Given the description of an element on the screen output the (x, y) to click on. 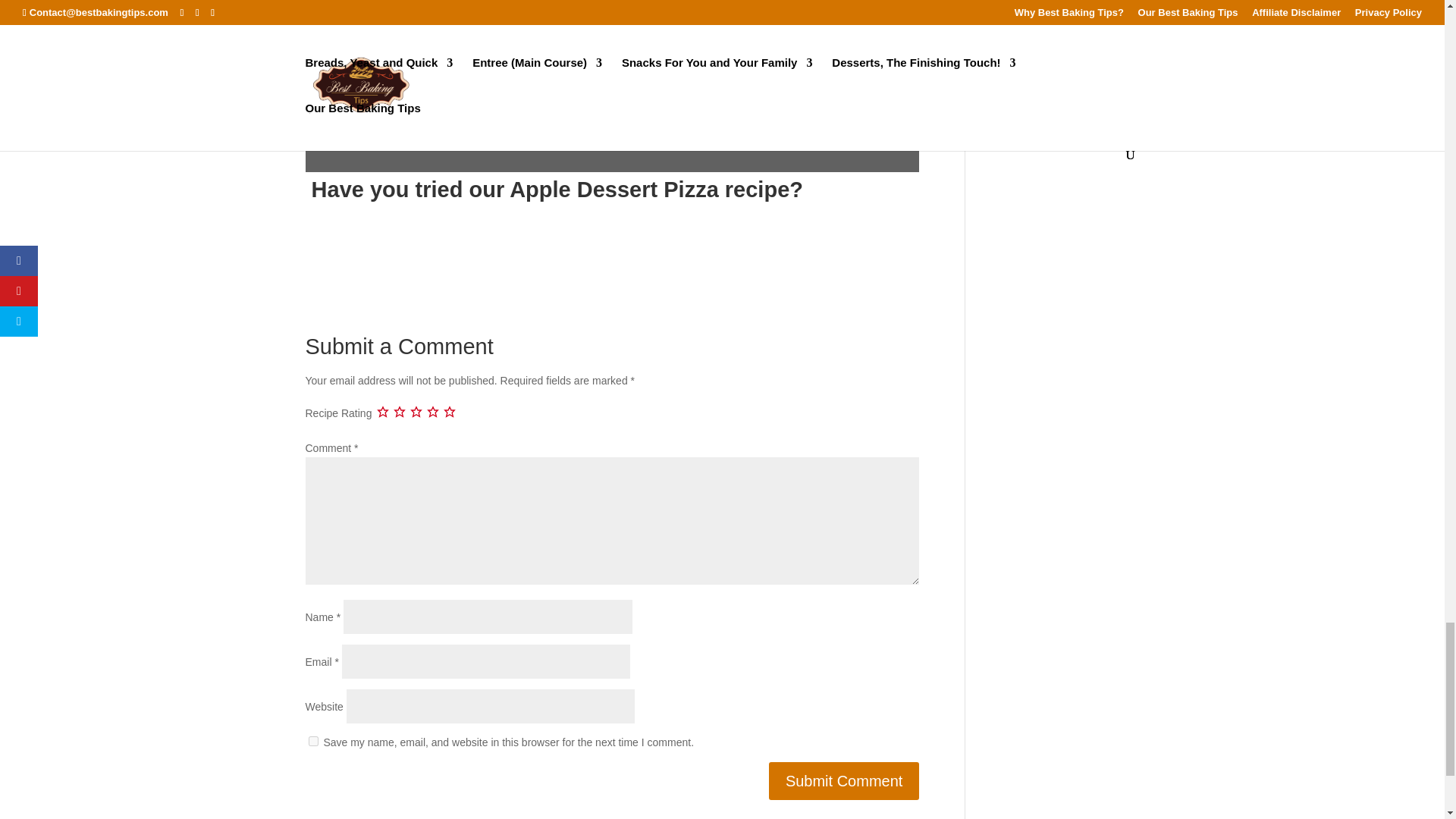
Submit Comment (844, 781)
yes (312, 741)
